Given the description of an element on the screen output the (x, y) to click on. 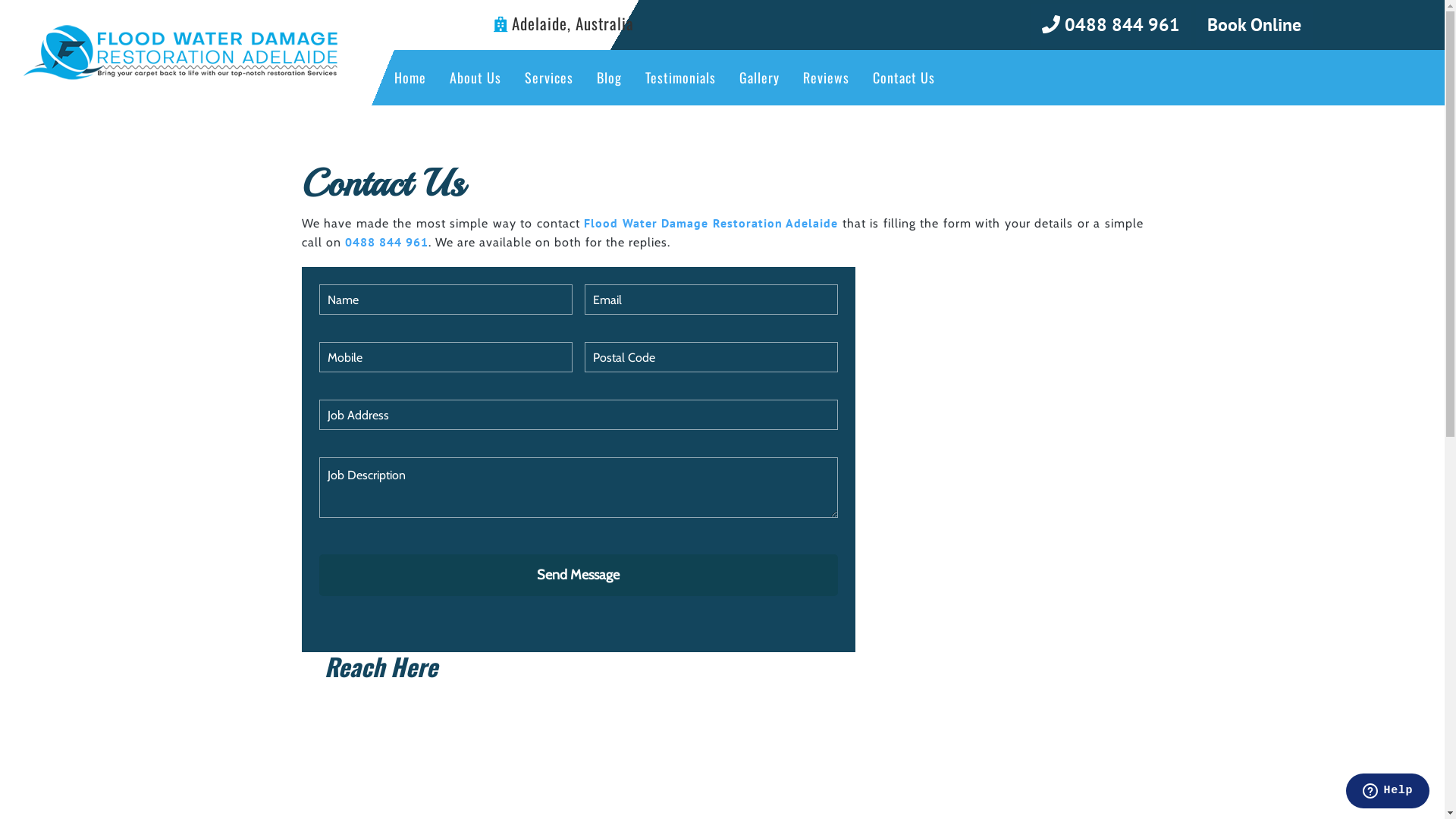
Testimonials Element type: text (680, 77)
About Us Element type: text (475, 77)
Contact Us Element type: text (903, 77)
Flood Water Damage Restoration Adelaide Element type: text (710, 222)
Send Message Element type: text (577, 575)
Blog Element type: text (609, 77)
Reviews Element type: text (825, 77)
Services Element type: text (548, 77)
Opens a widget where you can chat to one of our agents Element type: hover (1387, 792)
0488 844 961 Element type: text (1110, 24)
Home Element type: text (409, 77)
Gallery Element type: text (759, 77)
Book Online Element type: text (1253, 24)
0488 844 961 Element type: text (385, 241)
